Given the description of an element on the screen output the (x, y) to click on. 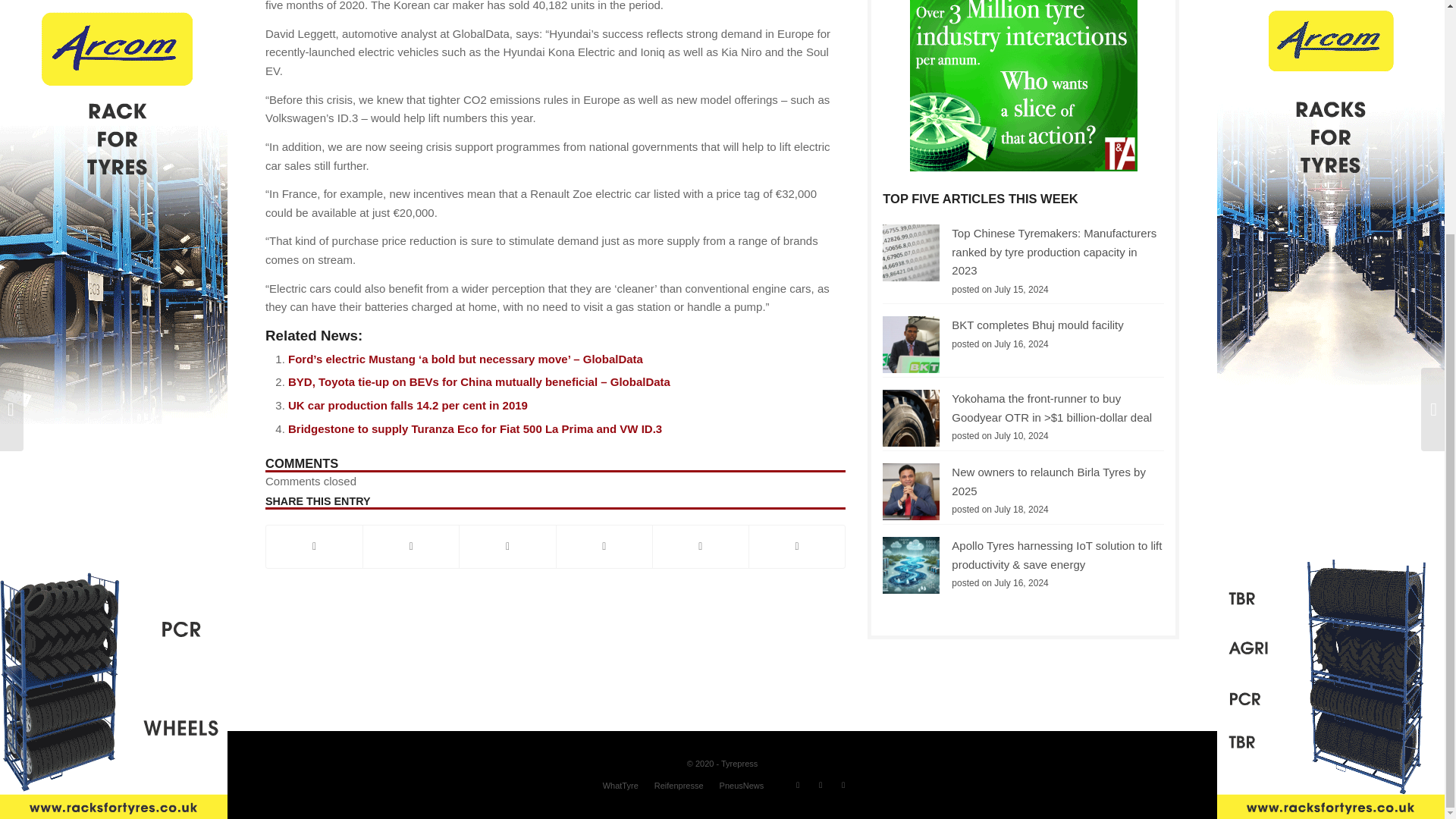
UK car production falls 14.2 per cent in 2019 (407, 404)
X (410, 546)
